Given the description of an element on the screen output the (x, y) to click on. 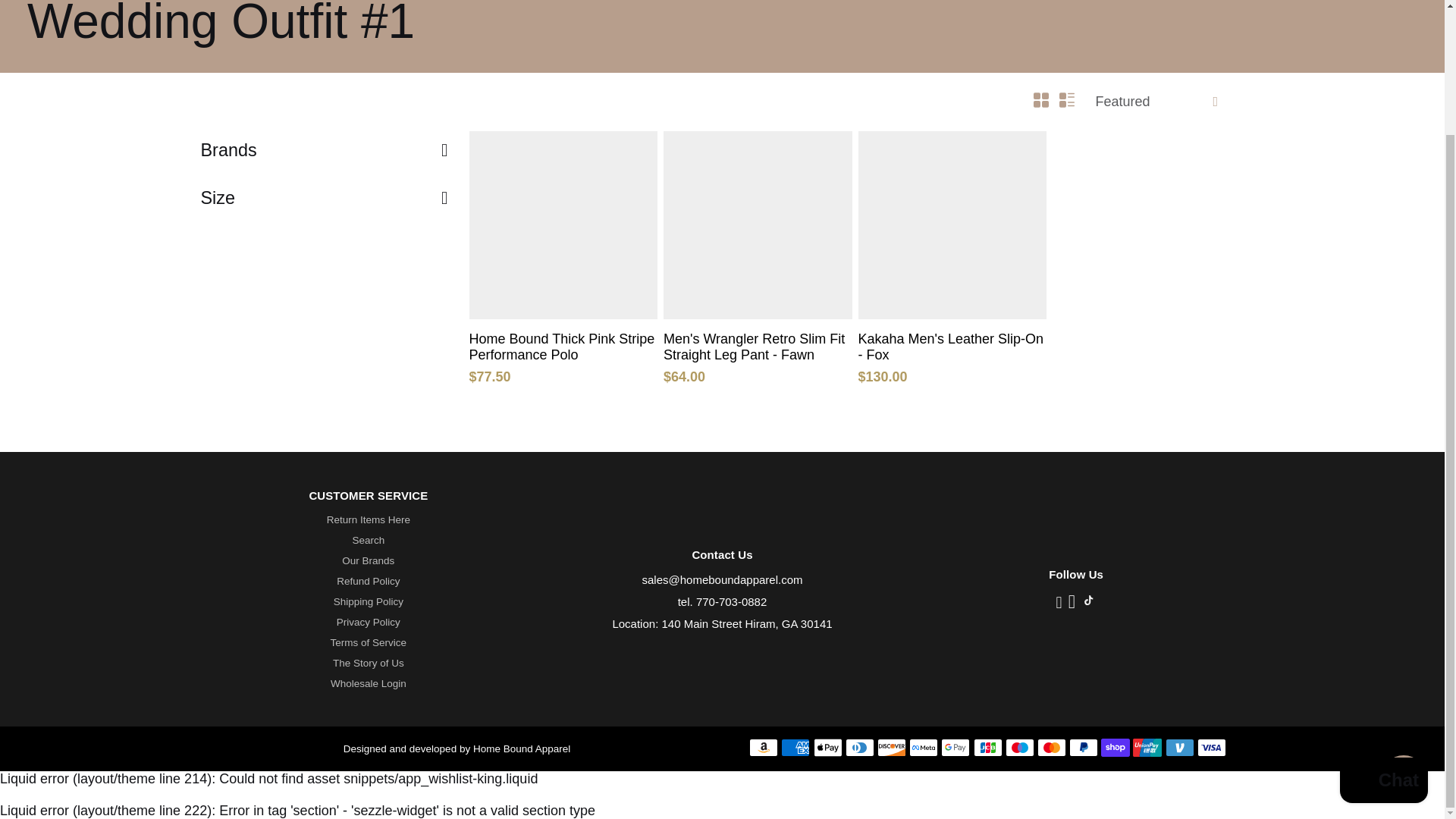
Maestro (1019, 747)
Shopify online store chat (1383, 631)
Amazon (763, 747)
PayPal (1082, 747)
Mastercard (1050, 747)
Union Pay (1146, 747)
Google Pay (954, 747)
Apple Pay (828, 747)
Discover (891, 747)
American Express (794, 747)
